Given the description of an element on the screen output the (x, y) to click on. 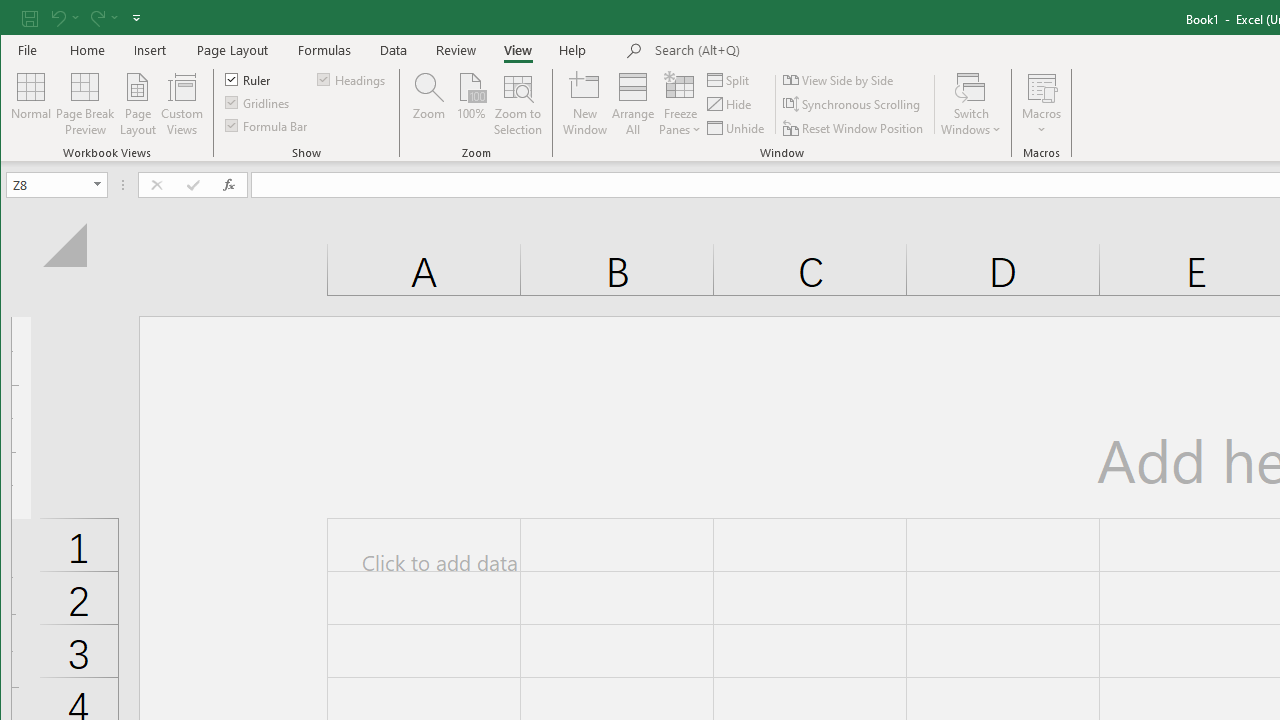
Ruler (248, 78)
Switch Windows (971, 104)
Gridlines (258, 101)
New Window (585, 104)
